Given the description of an element on the screen output the (x, y) to click on. 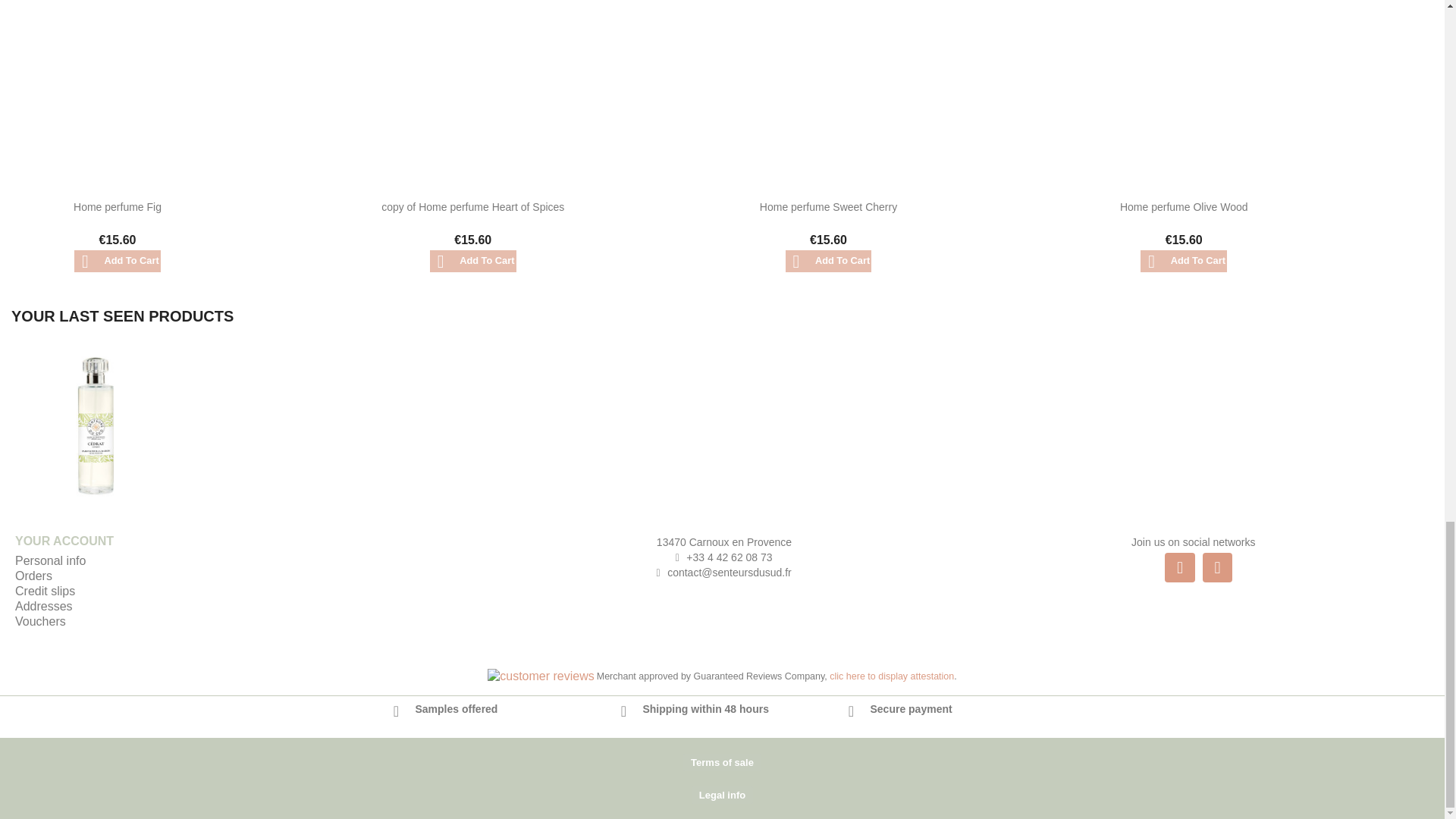
Home perfume Citron (94, 423)
Addresses (43, 605)
Credit slips (44, 590)
Vouchers (39, 621)
Personal info (49, 560)
Orders (33, 575)
